Given the description of an element on the screen output the (x, y) to click on. 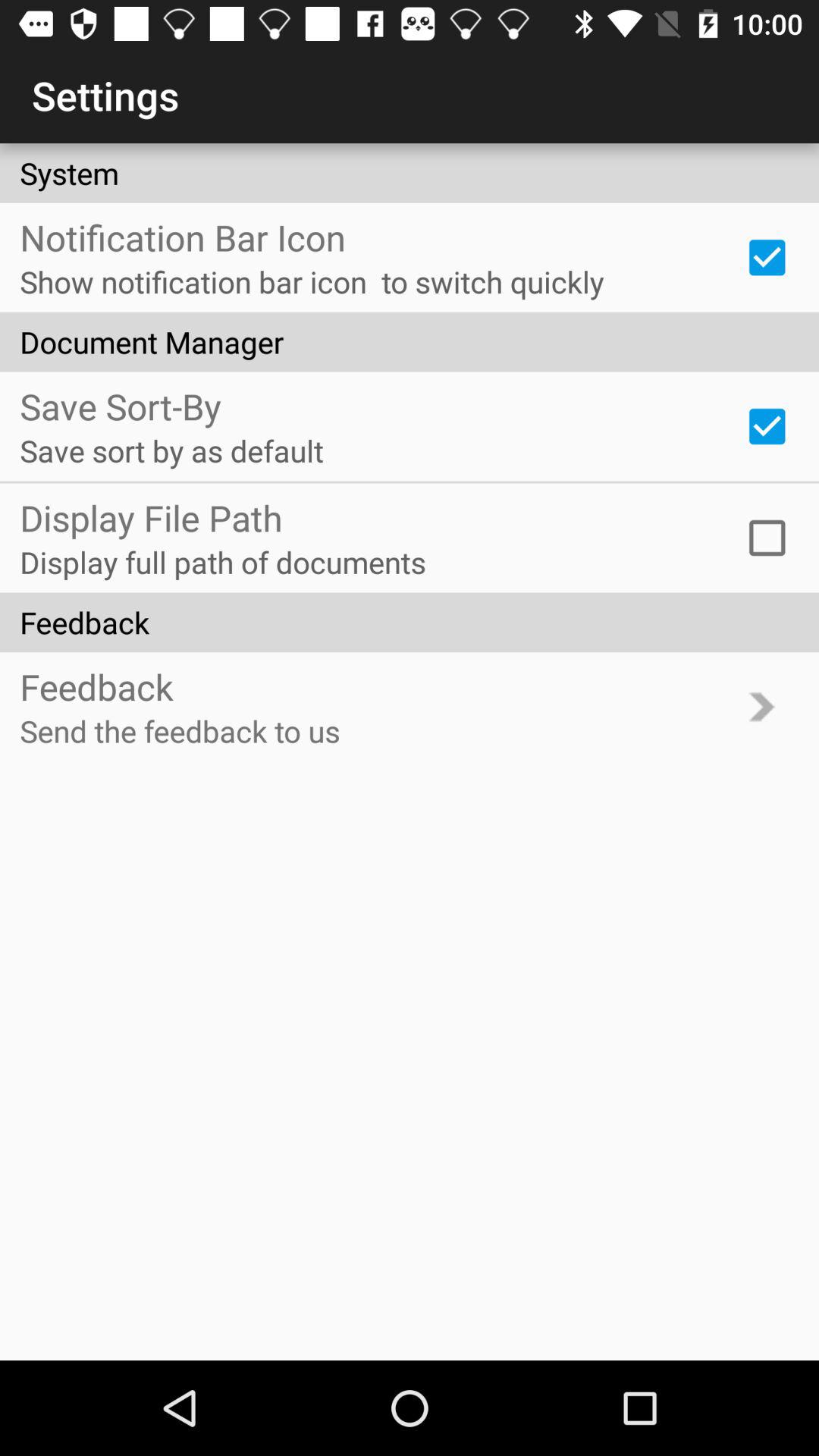
select icon next to the show notification bar (767, 257)
